Given the description of an element on the screen output the (x, y) to click on. 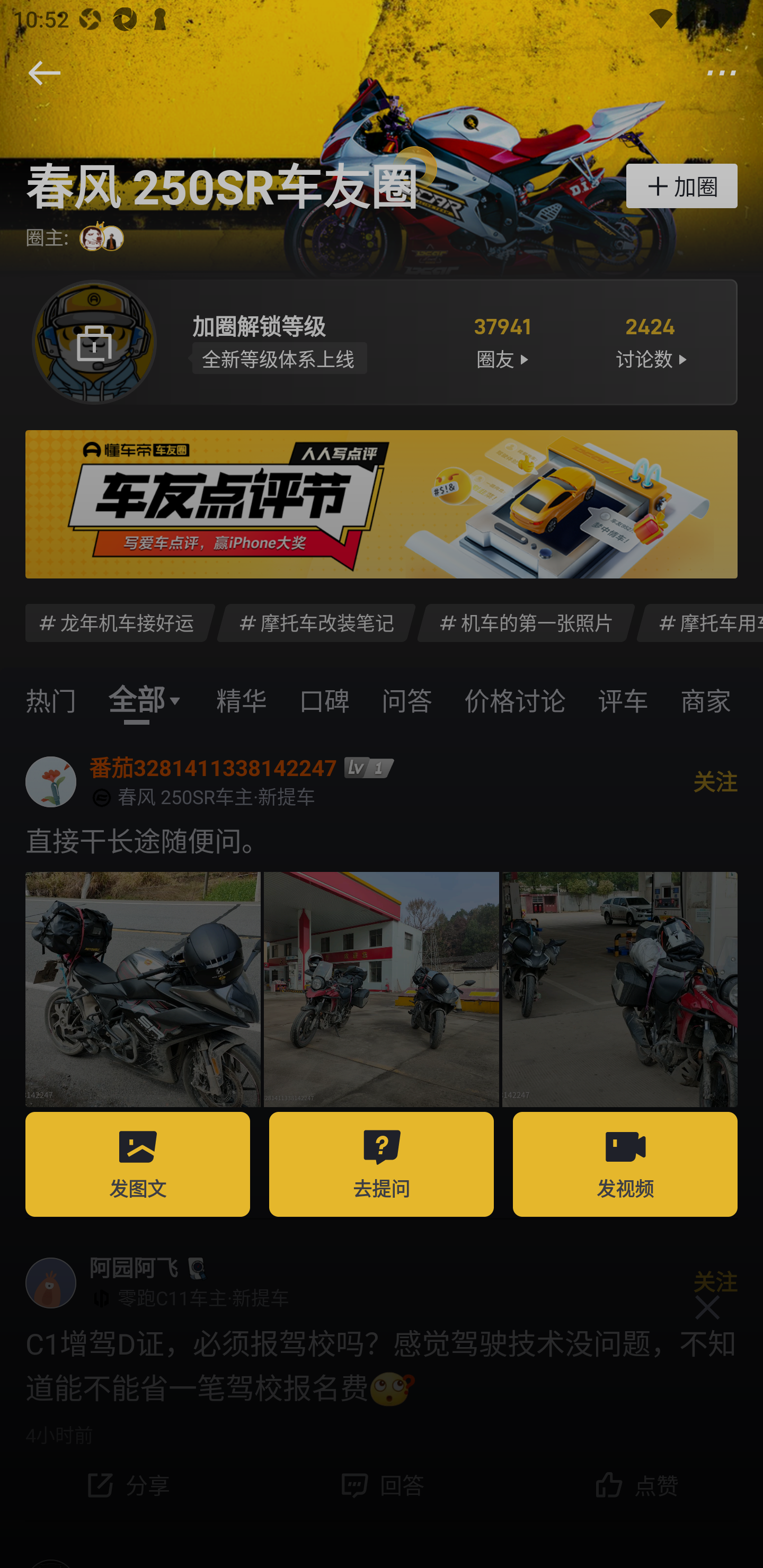
发图文 (137, 1163)
去提问 (381, 1163)
发视频 (624, 1163)
 (707, 1307)
